Given the description of an element on the screen output the (x, y) to click on. 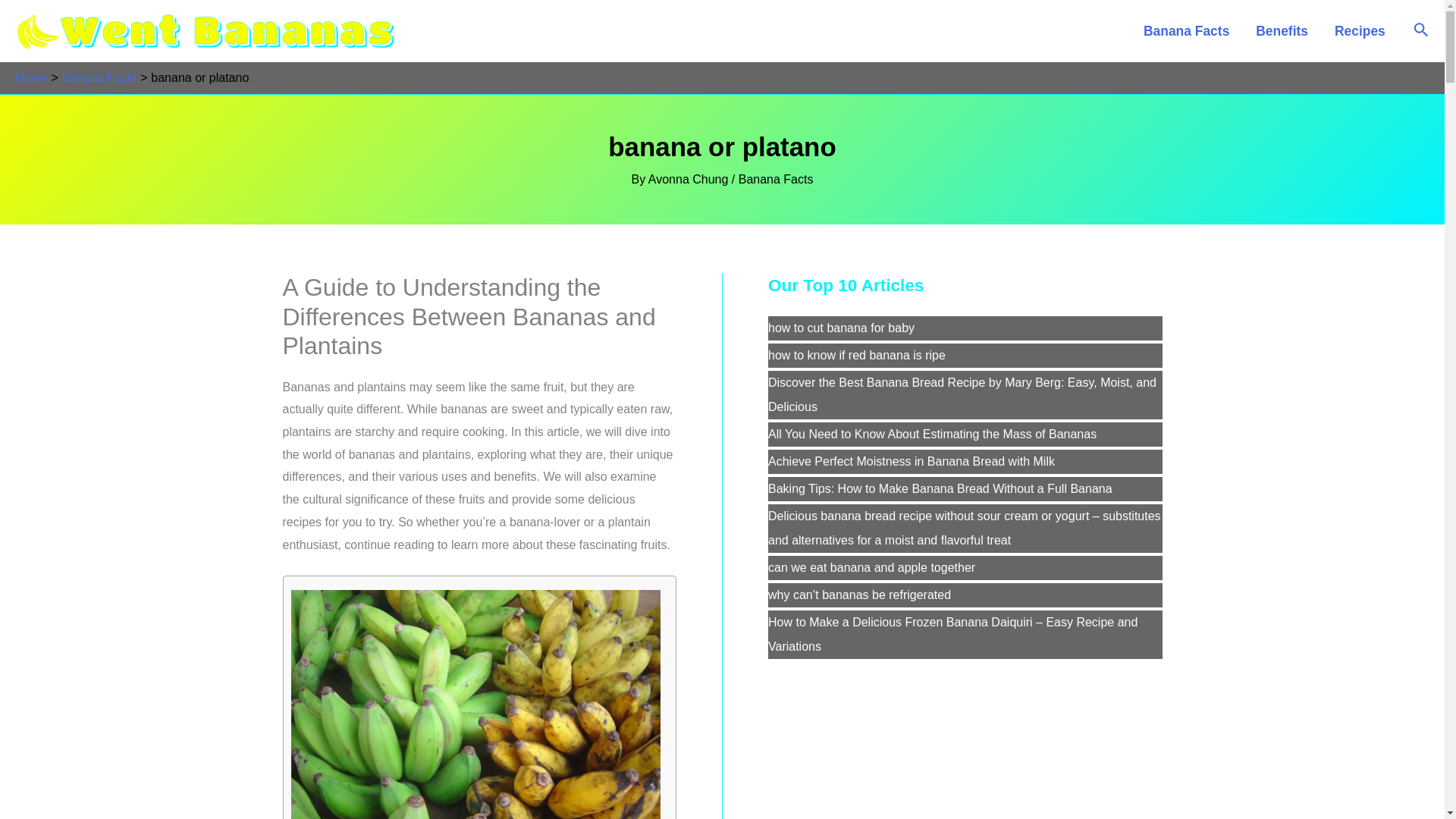
Recipes (1358, 30)
Banana Facts (99, 77)
Banana Facts (1185, 30)
banana or platano (476, 704)
Home (31, 77)
View all posts by Avonna Chung (689, 178)
Avonna Chung (689, 178)
Banana Facts (775, 178)
Benefits (1282, 30)
